Given the description of an element on the screen output the (x, y) to click on. 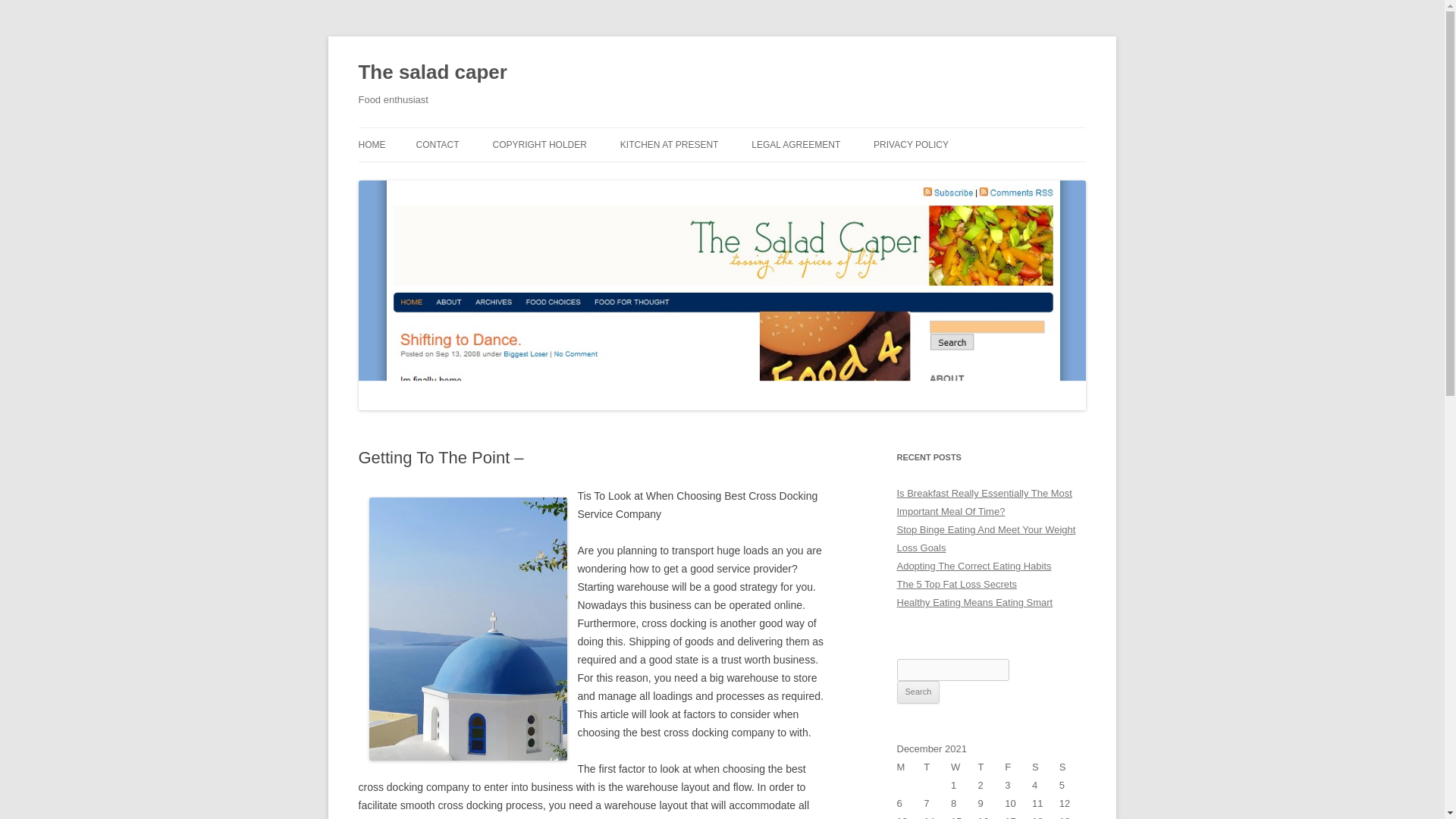
KITCHEN AT PRESENT (669, 144)
Stop Binge Eating And Meet Your Weight Loss Goals (985, 538)
Tuesday (936, 767)
COPYRIGHT HOLDER (539, 144)
Search (917, 691)
Adopting The Correct Eating Habits (973, 565)
PRIVACY POLICY (911, 144)
Saturday (1045, 767)
Thursday (992, 767)
The salad caper (432, 72)
